Given the description of an element on the screen output the (x, y) to click on. 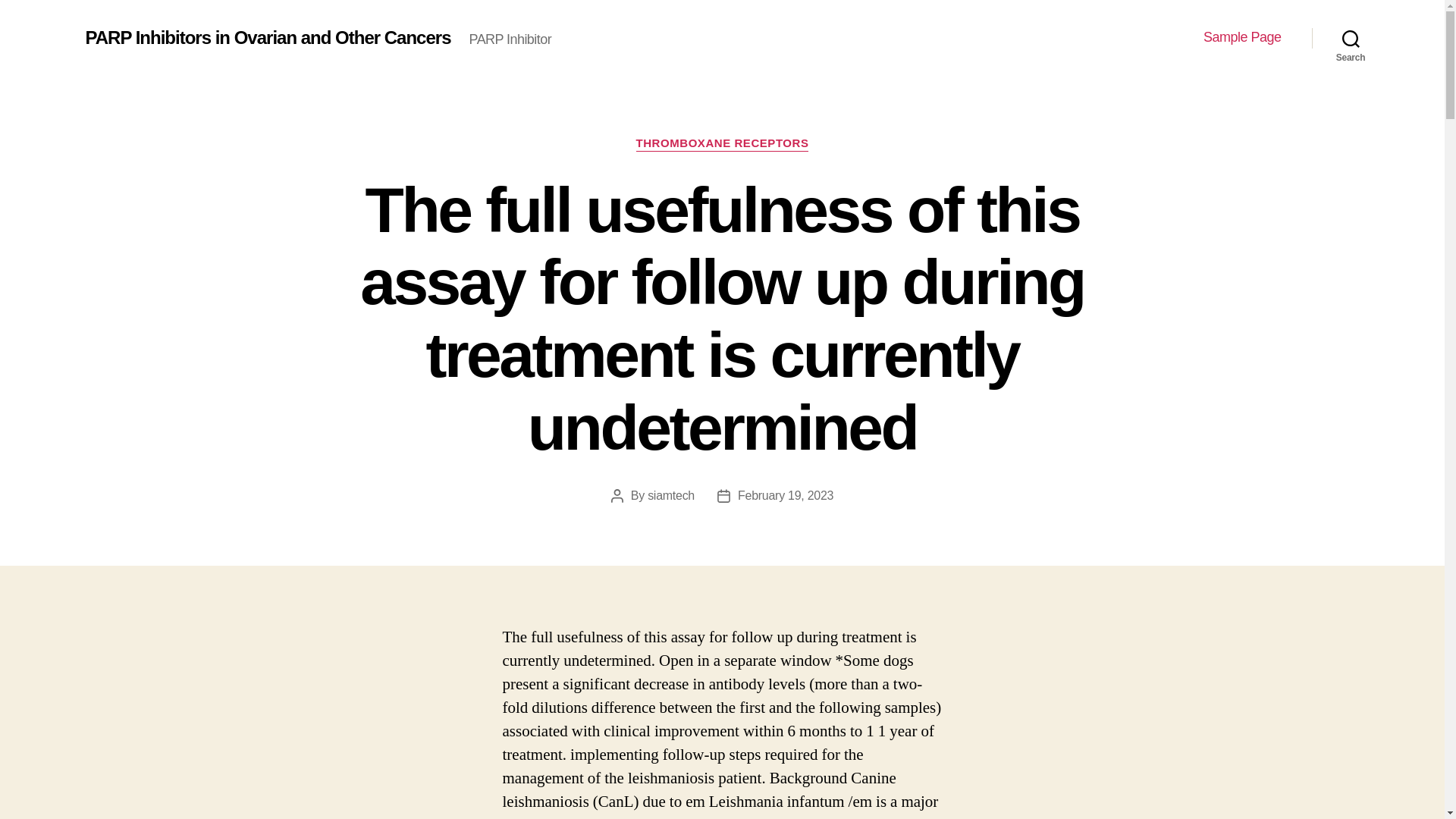
Search (1350, 37)
PARP Inhibitors in Ovarian and Other Cancers (266, 37)
Sample Page (1242, 37)
THROMBOXANE RECEPTORS (722, 143)
February 19, 2023 (785, 495)
siamtech (670, 495)
